Given the description of an element on the screen output the (x, y) to click on. 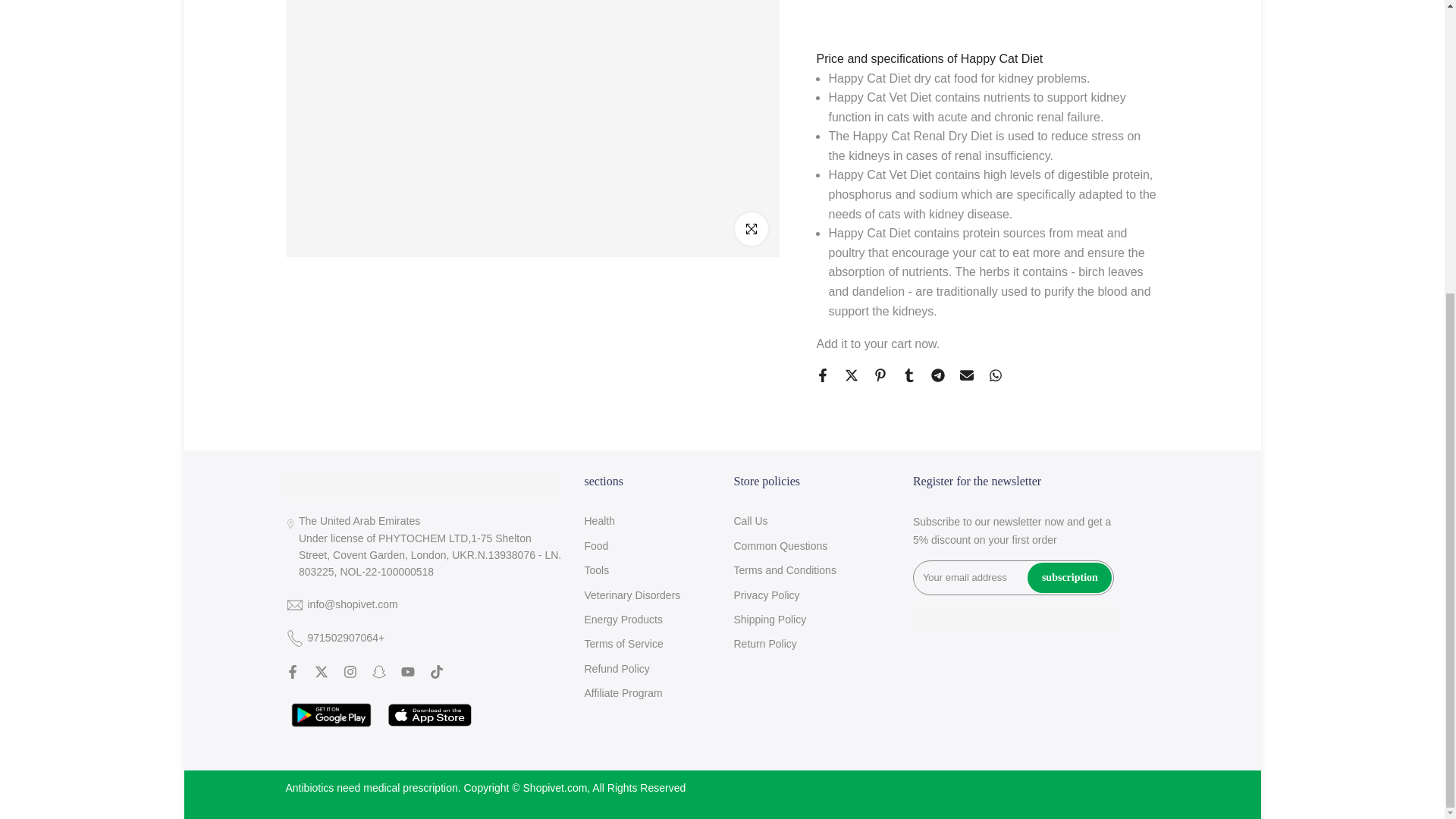
Share on WhatsApp (995, 278)
Post on Facebook (822, 278)
Post on Telegram (937, 278)
Post on Twitter (851, 278)
Post on Tumblr (908, 278)
Post by email (966, 278)
Post on Pinterest (879, 278)
